Given the description of an element on the screen output the (x, y) to click on. 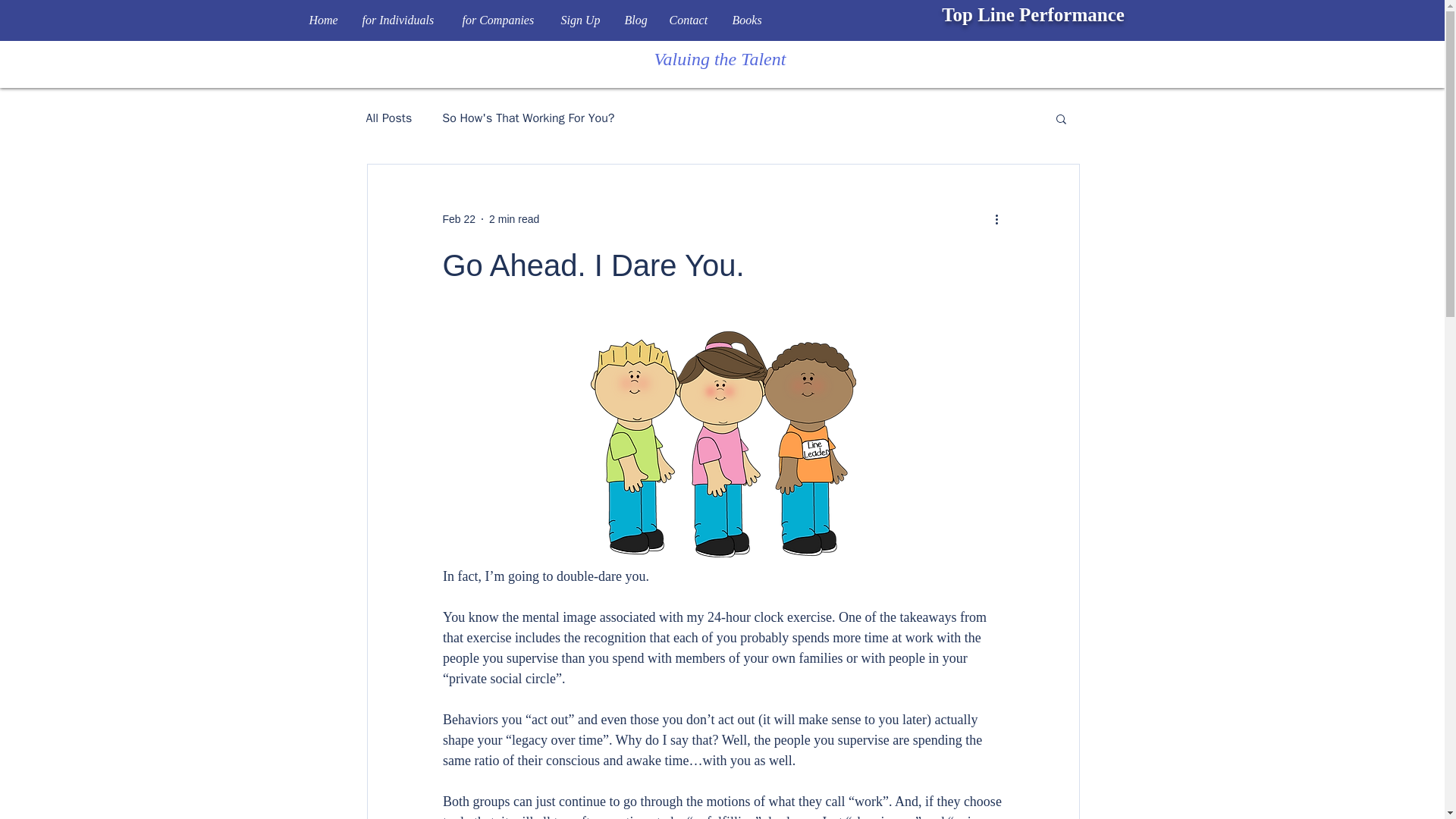
Books (746, 19)
Top Line Performance (1033, 14)
Feb 22 (459, 218)
for Individuals (399, 19)
All Posts (388, 118)
Contact (689, 19)
Sign Up (580, 19)
2 min read (513, 218)
Blog (635, 19)
Home (323, 19)
